Given the description of an element on the screen output the (x, y) to click on. 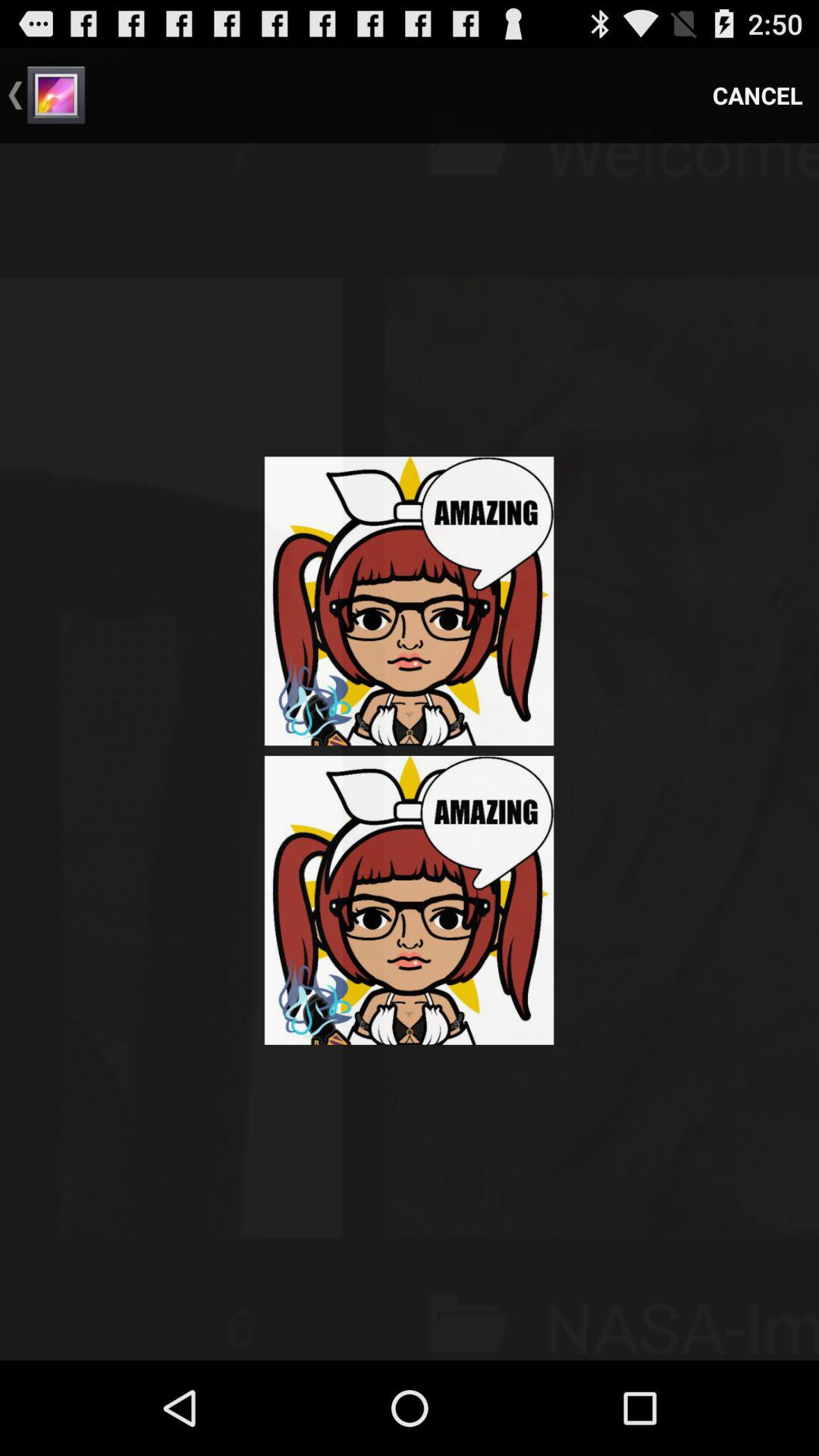
launch the cancel icon (757, 95)
